Given the description of an element on the screen output the (x, y) to click on. 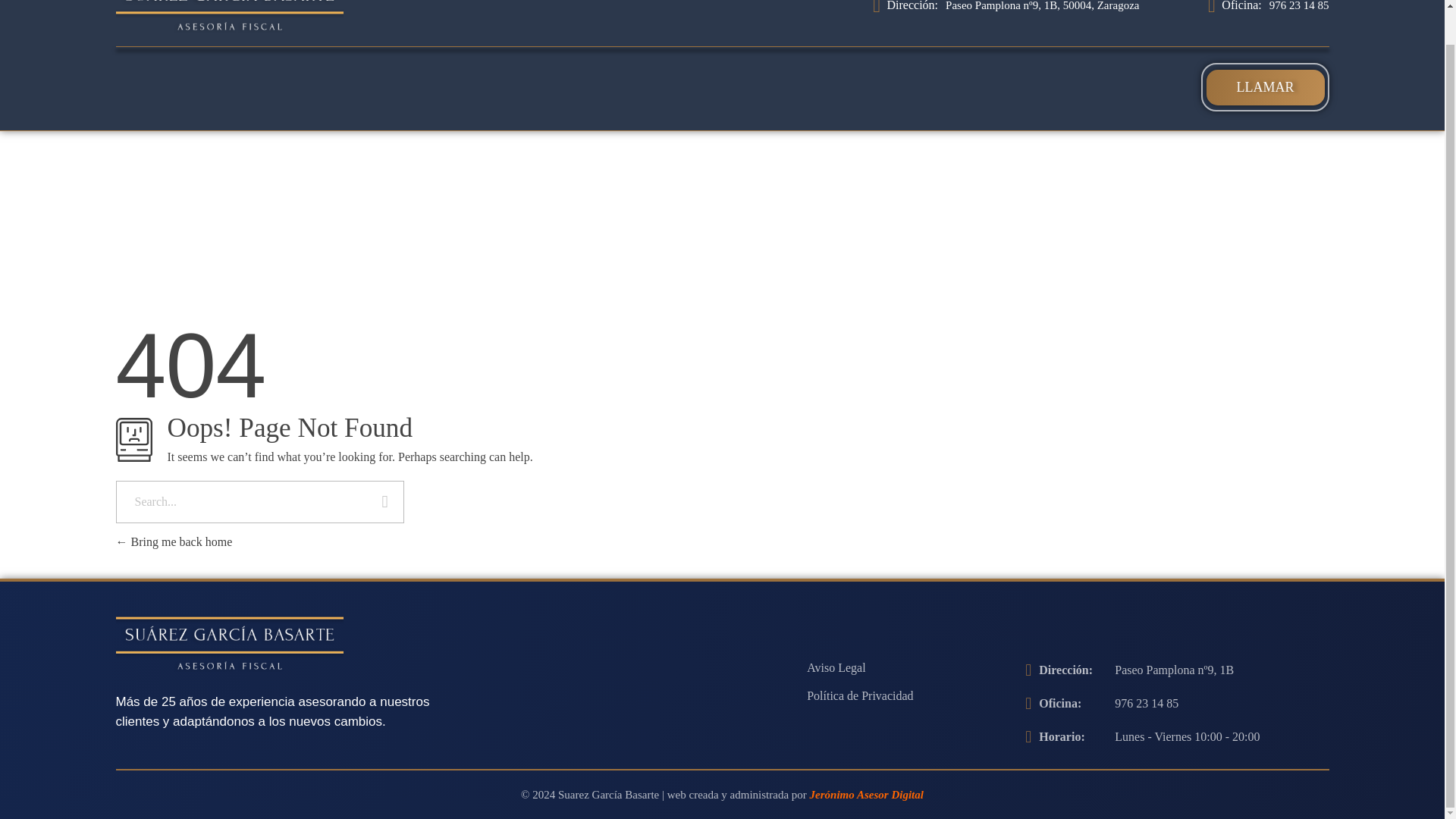
Bring me back home (173, 541)
LLAMAR (1264, 87)
Aviso Legal (835, 668)
